Given the description of an element on the screen output the (x, y) to click on. 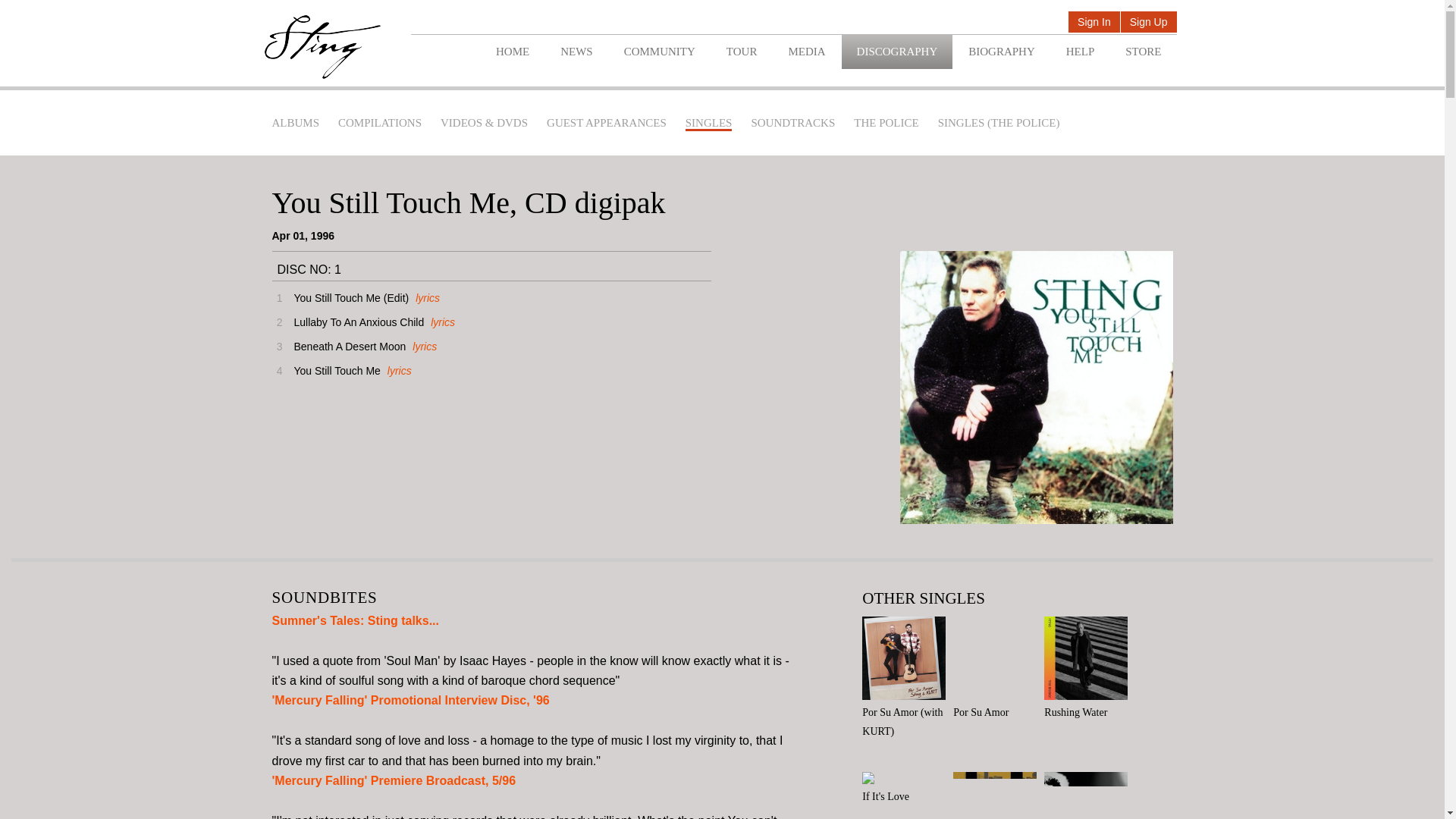
lyrics (440, 322)
HELP (1080, 51)
THE POLICE (885, 122)
SOUNDTRACKS (792, 122)
Sign Up (1148, 22)
HOME (512, 51)
Sting (321, 46)
Sign In (1093, 22)
TOUR (742, 51)
lyrics (398, 370)
lyrics (425, 297)
If It's Love (907, 789)
SINGLES (708, 124)
MEDIA (806, 51)
BIOGRAPHY (1001, 51)
